Given the description of an element on the screen output the (x, y) to click on. 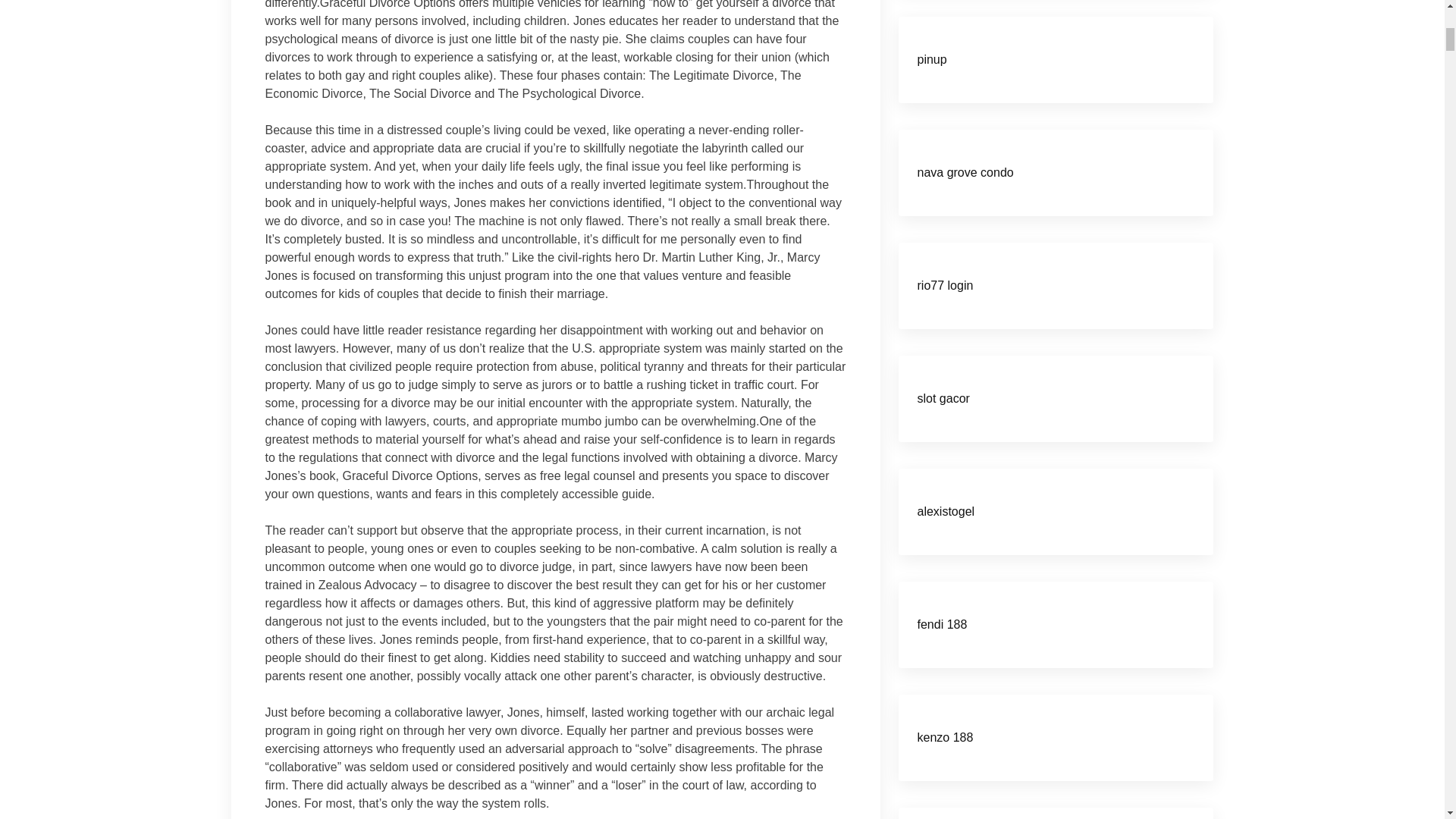
kenzo 188 (945, 737)
fendi 188 (942, 624)
pinup (932, 59)
nava grove condo (965, 172)
alexistogel (946, 511)
rio77 login (945, 285)
slot gacor (943, 398)
